Given the description of an element on the screen output the (x, y) to click on. 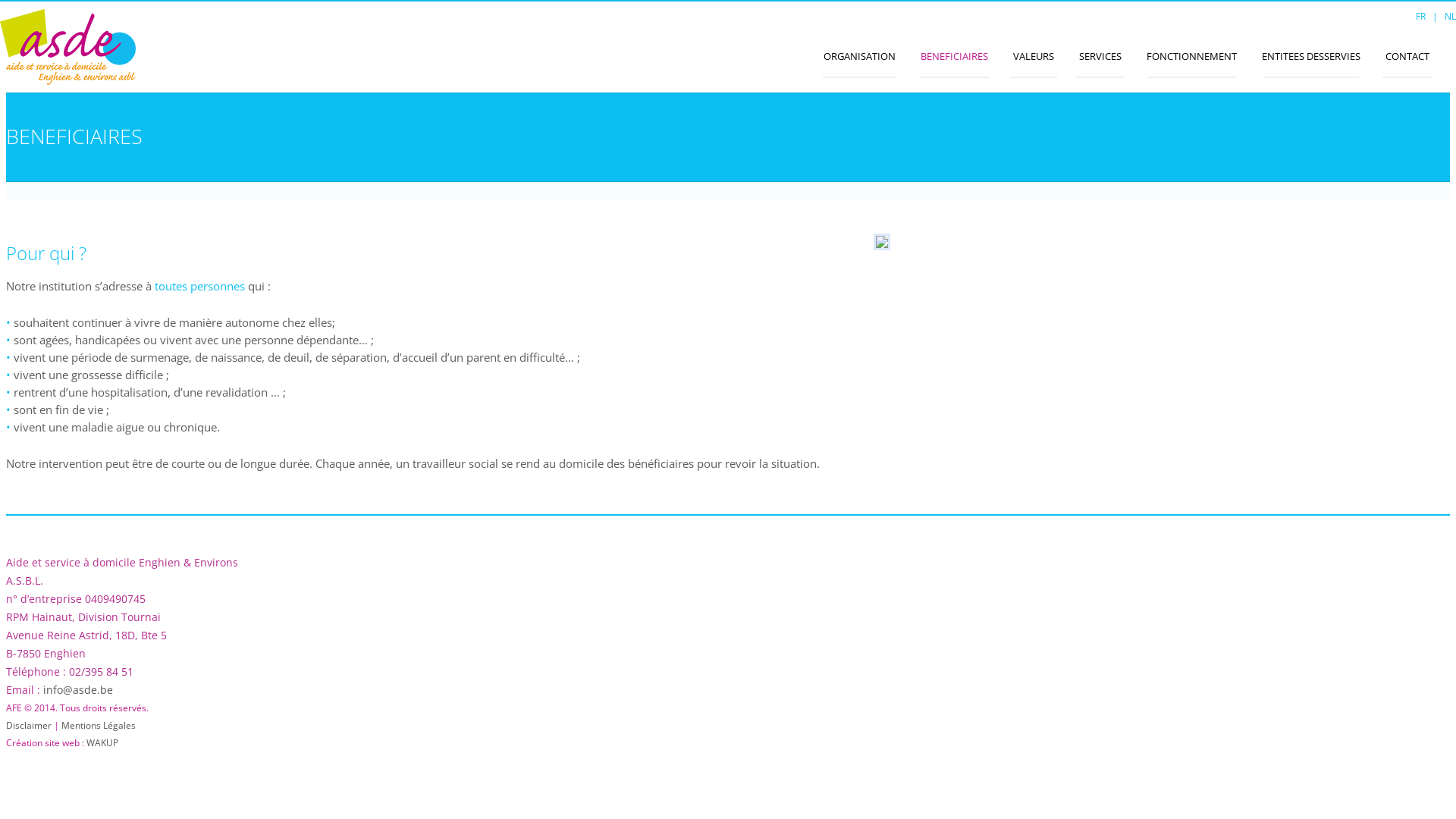
CONTACT Element type: text (1407, 56)
SERVICES Element type: text (1100, 56)
ENTITEES DESSERVIES Element type: text (1311, 56)
FR Element type: text (1420, 15)
VALEURS Element type: text (1033, 56)
ORGANISATION Element type: text (859, 56)
BENEFICIAIRES Element type: text (954, 56)
Disclaimer Element type: text (28, 724)
info@asde.be Element type: text (77, 689)
WAKUP Element type: text (102, 742)
FONCTIONNEMENT Element type: text (1191, 56)
